Given the description of an element on the screen output the (x, y) to click on. 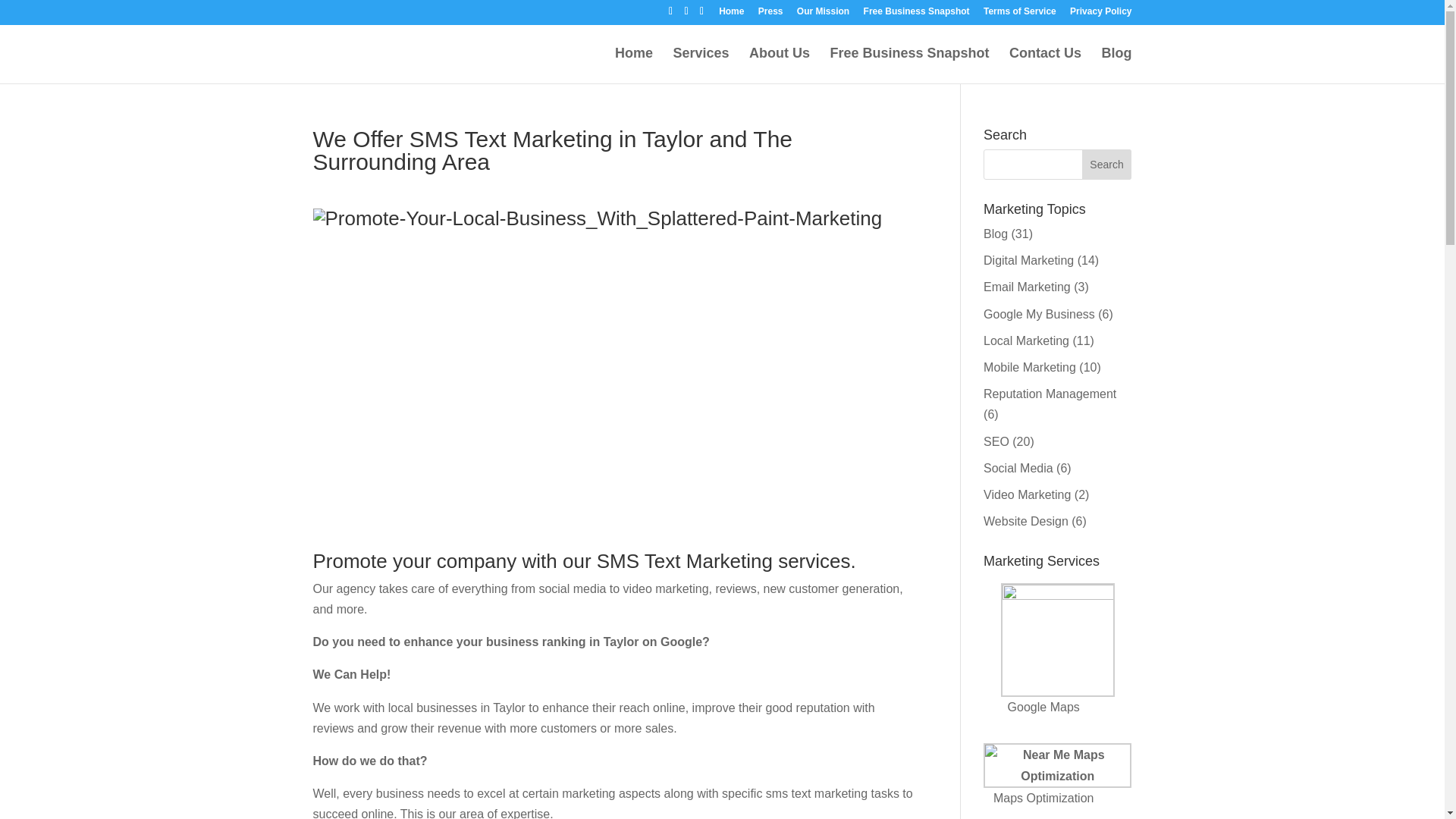
Contact Us (1045, 65)
Our Mission (822, 14)
Home (731, 14)
Google My Business (1039, 314)
Digital Marketing (1029, 259)
Search (1106, 164)
Reputation Management (1050, 393)
Email Marketing (1027, 286)
Privacy Policy (1100, 14)
Services (700, 65)
